Given the description of an element on the screen output the (x, y) to click on. 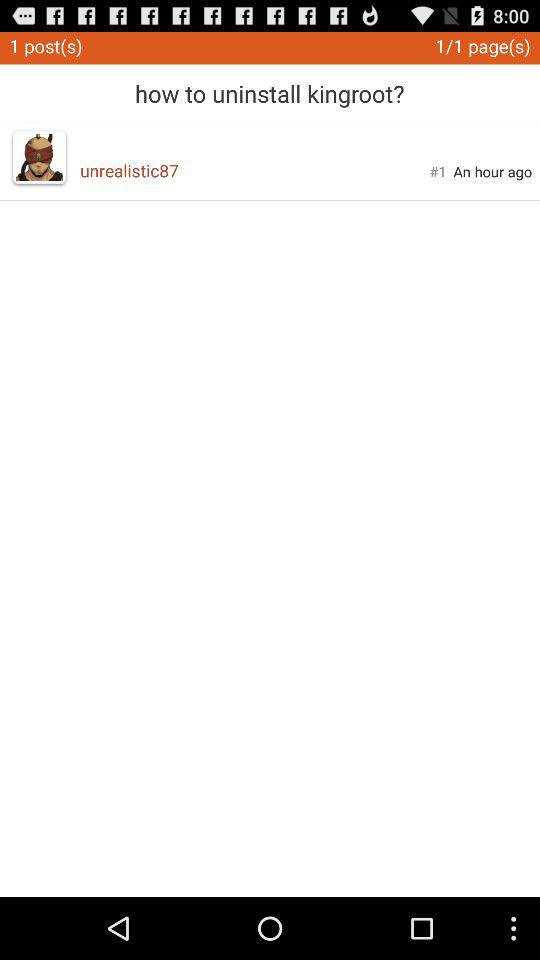
click app to the left of #1 app (254, 170)
